Given the description of an element on the screen output the (x, y) to click on. 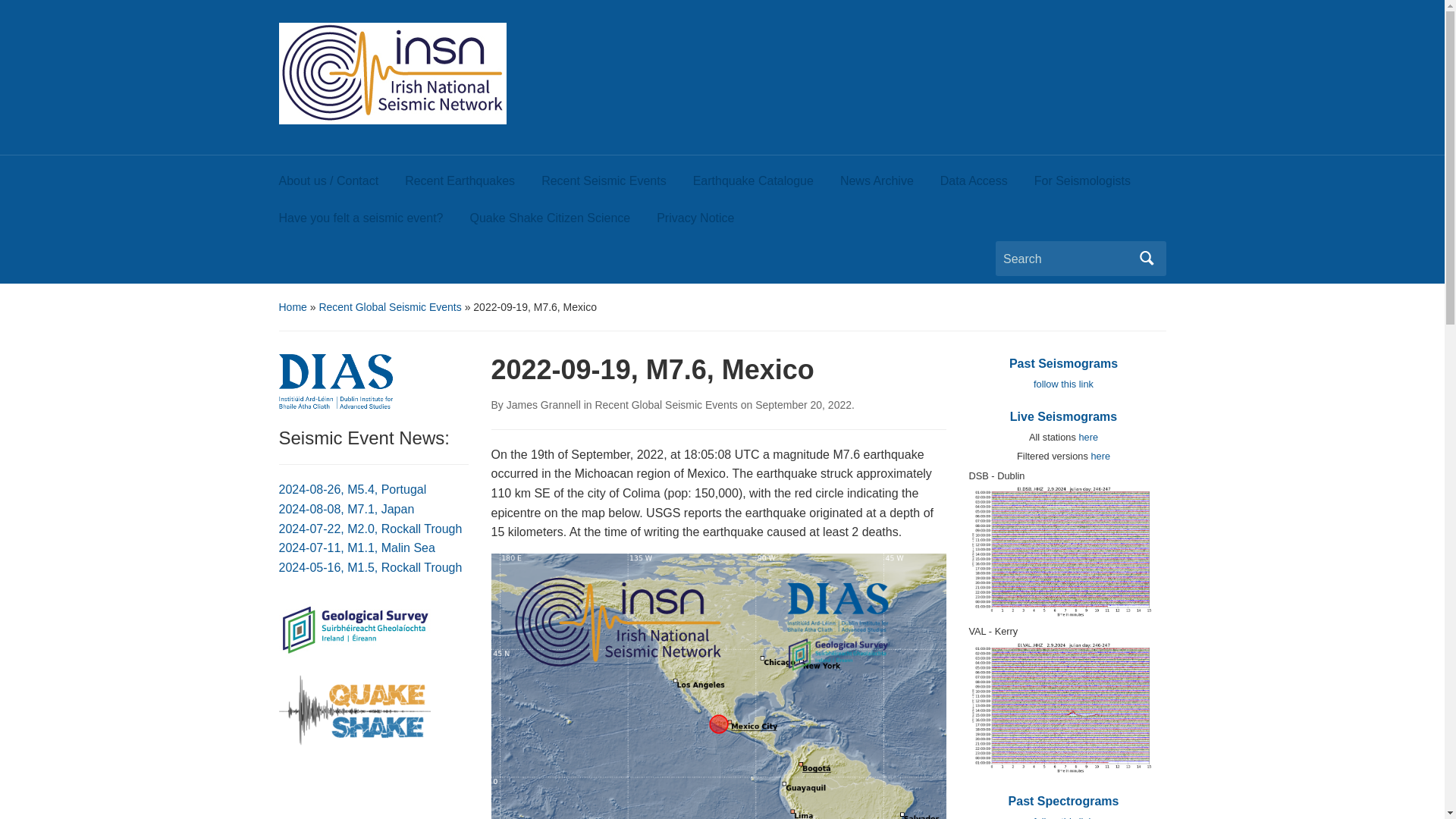
2024-08-26, M5.4, Portugal (352, 489)
Recent Global Seismic Events (389, 306)
Recent Seismic Events (617, 185)
Recent Global Seismic Events (665, 404)
Quake Shake Citizen Science (564, 221)
2024-05-16, M1.5, Rockall Trough (371, 567)
Data Access (986, 185)
Privacy Notice (708, 221)
1:55 pm (803, 404)
Have you felt a seismic event? (374, 221)
